Given the description of an element on the screen output the (x, y) to click on. 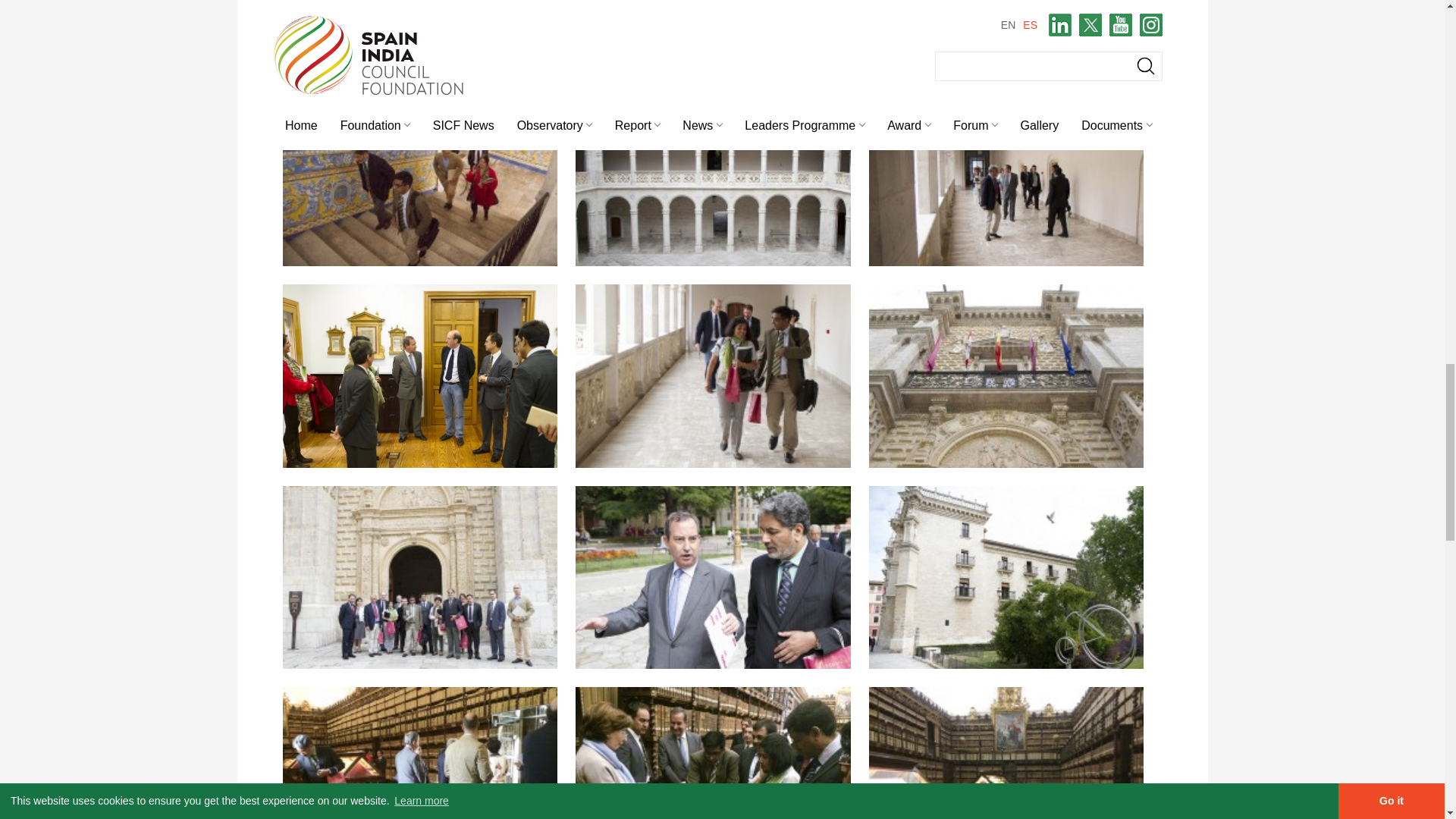
La biblioteca de la Universidad de Valladolid (1006, 753)
Alonso Dezcallar, SG de la FCEI, charla con R K Shevgaonkar (712, 577)
Llegada a la Universidad de Valladolid (419, 32)
Fachada del Palacio de Santa Cruz (1006, 375)
Palacio de Santa Cruz (419, 174)
Fachada de la Universidad de Valladolid (1006, 577)
Foto de familia en la UVa (419, 577)
Detalle del Palacio de Santa Cruz, sede de la universidad (712, 32)
Ayesha Banerjee y Anustup Nayak durante la visita (712, 375)
El grupo se dirige al encuentro con el rector de la UVa (1006, 174)
Imagen del patio del Palacio de Santa Cruz (712, 174)
